Given the description of an element on the screen output the (x, y) to click on. 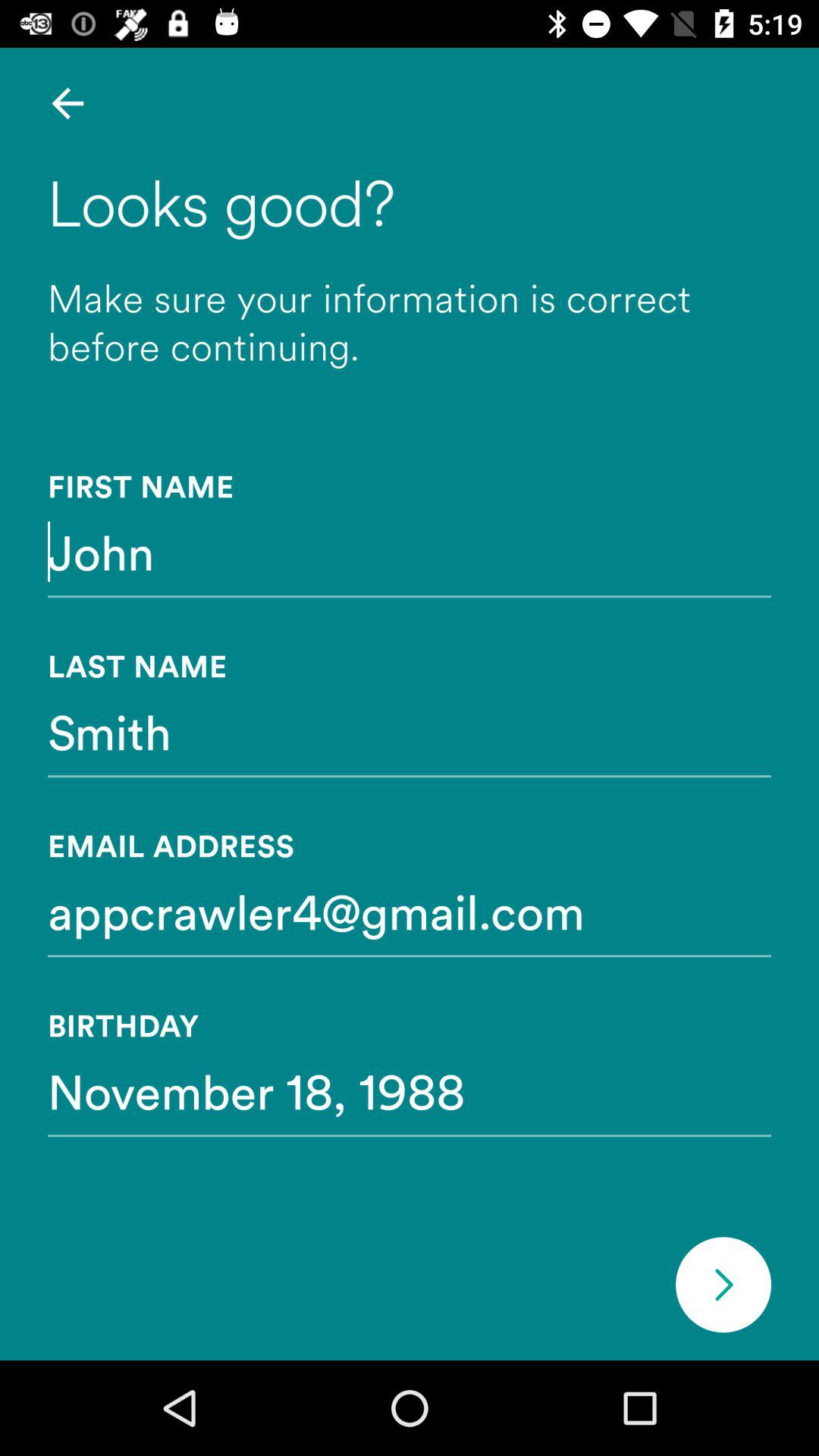
tap the icon below birthday icon (409, 1090)
